Given the description of an element on the screen output the (x, y) to click on. 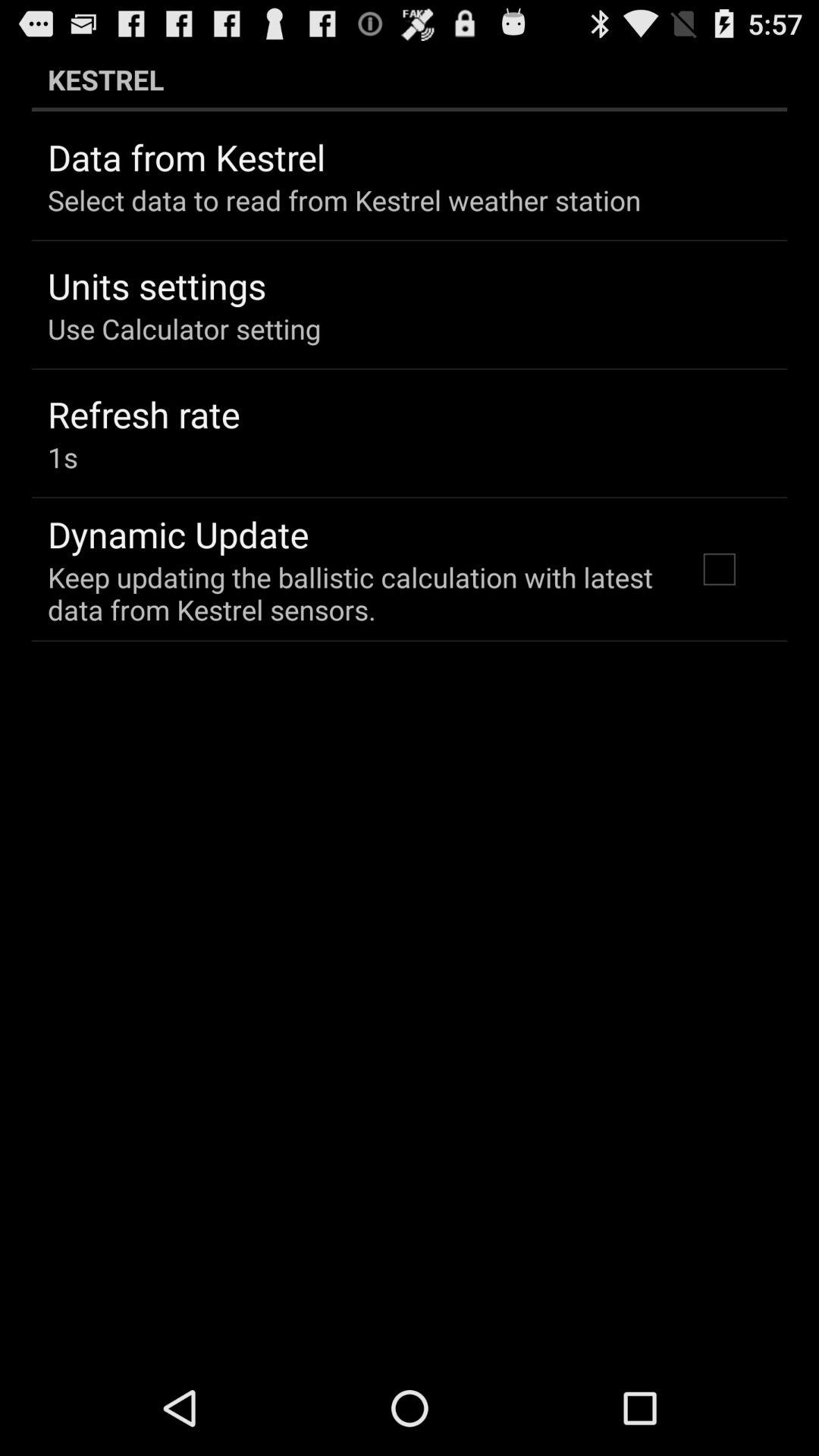
turn off the select data to item (343, 199)
